Given the description of an element on the screen output the (x, y) to click on. 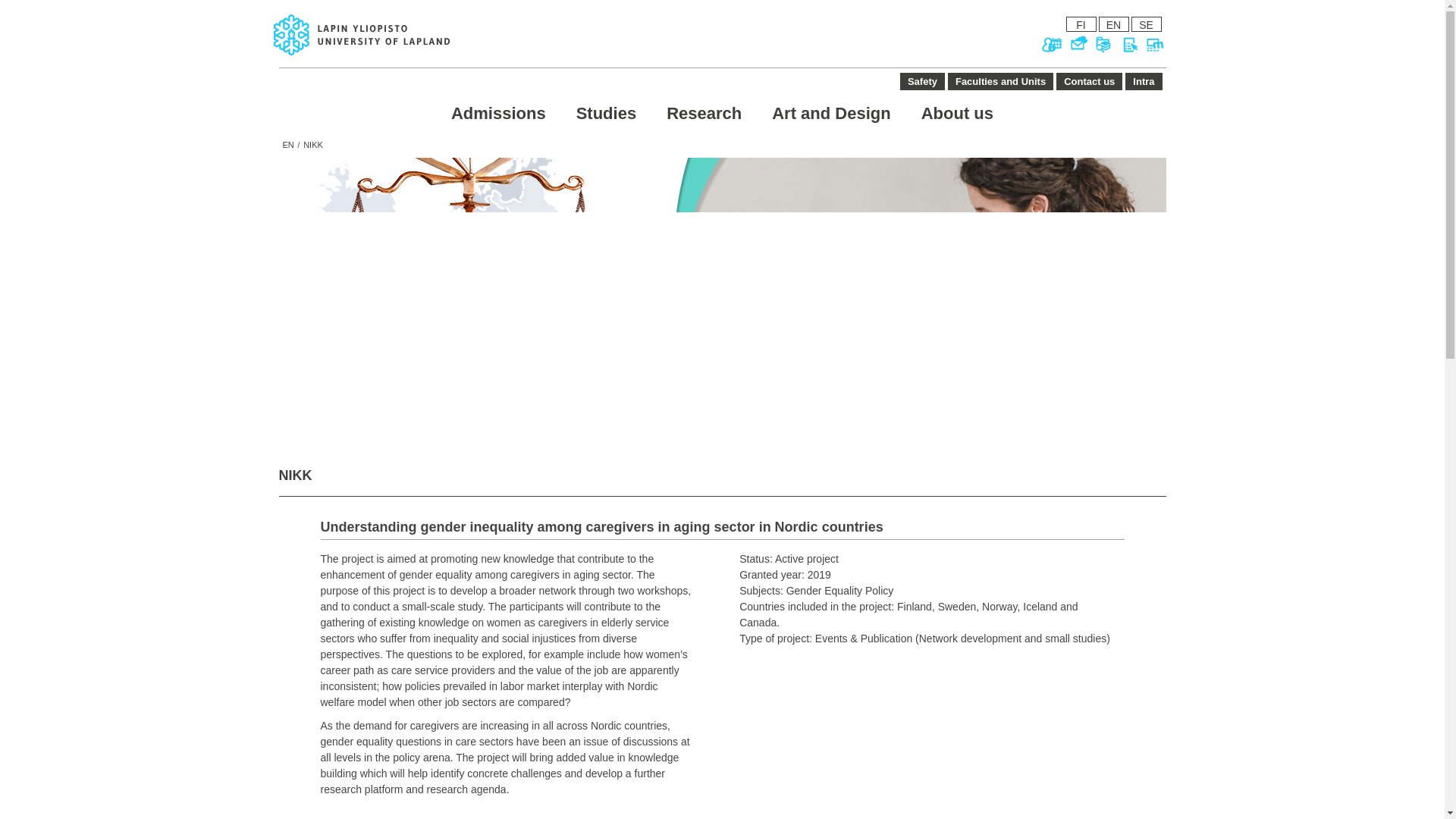
Moodle (1154, 45)
Research (703, 113)
LUC-Finna (1103, 45)
FI (1080, 23)
About us (957, 113)
Faculties and Units (999, 81)
Studies (605, 113)
Outlook (1077, 45)
Peppi (1051, 45)
EN (1112, 23)
Art and Design (831, 113)
Admissions (497, 113)
Safety (921, 81)
SE (1146, 23)
Exam (1129, 45)
